Given the description of an element on the screen output the (x, y) to click on. 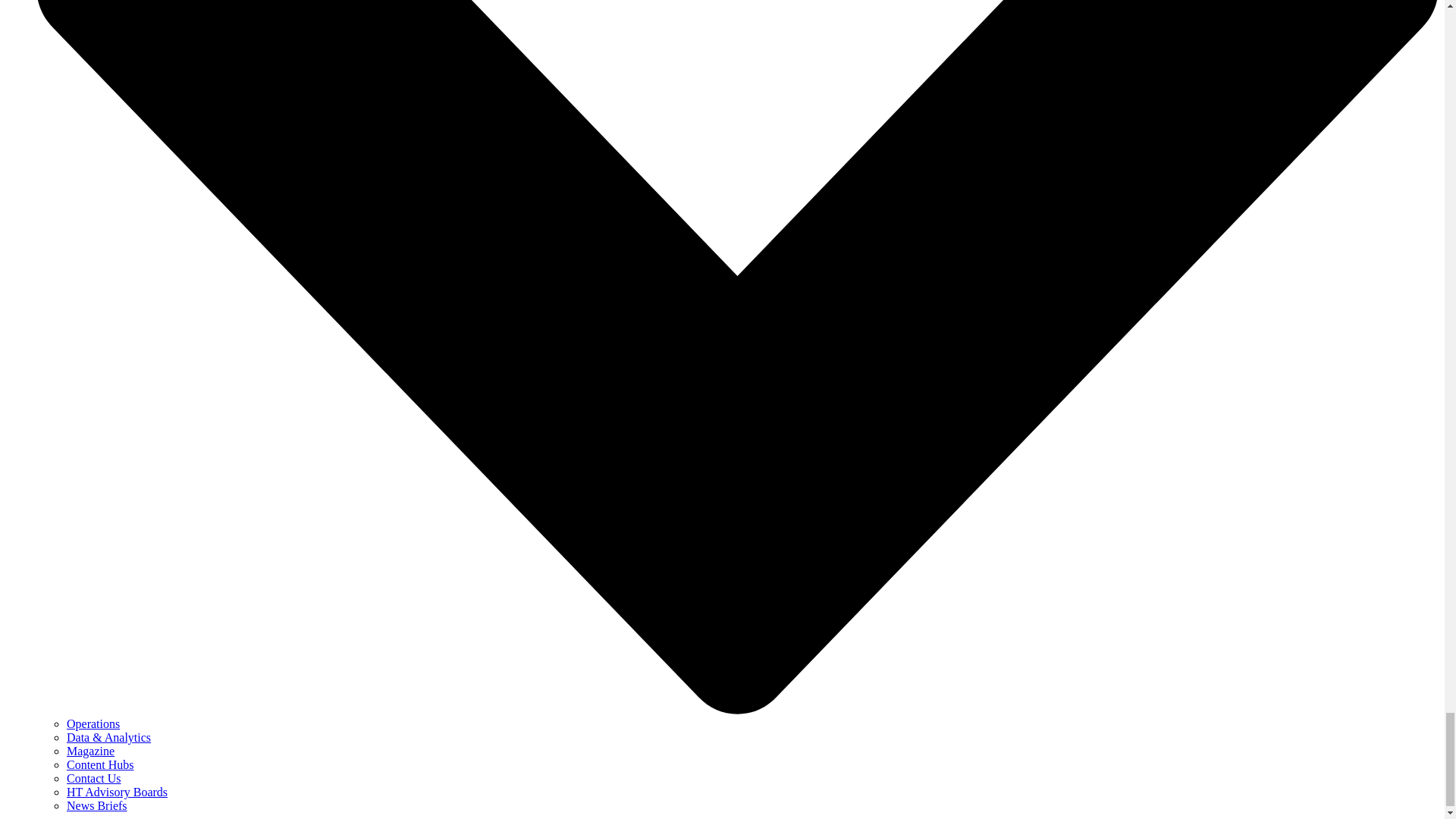
Contact Us (93, 778)
Magazine (90, 750)
News Briefs (97, 805)
Content Hubs (99, 764)
HT Advisory Boards (116, 791)
Operations (92, 723)
